Given the description of an element on the screen output the (x, y) to click on. 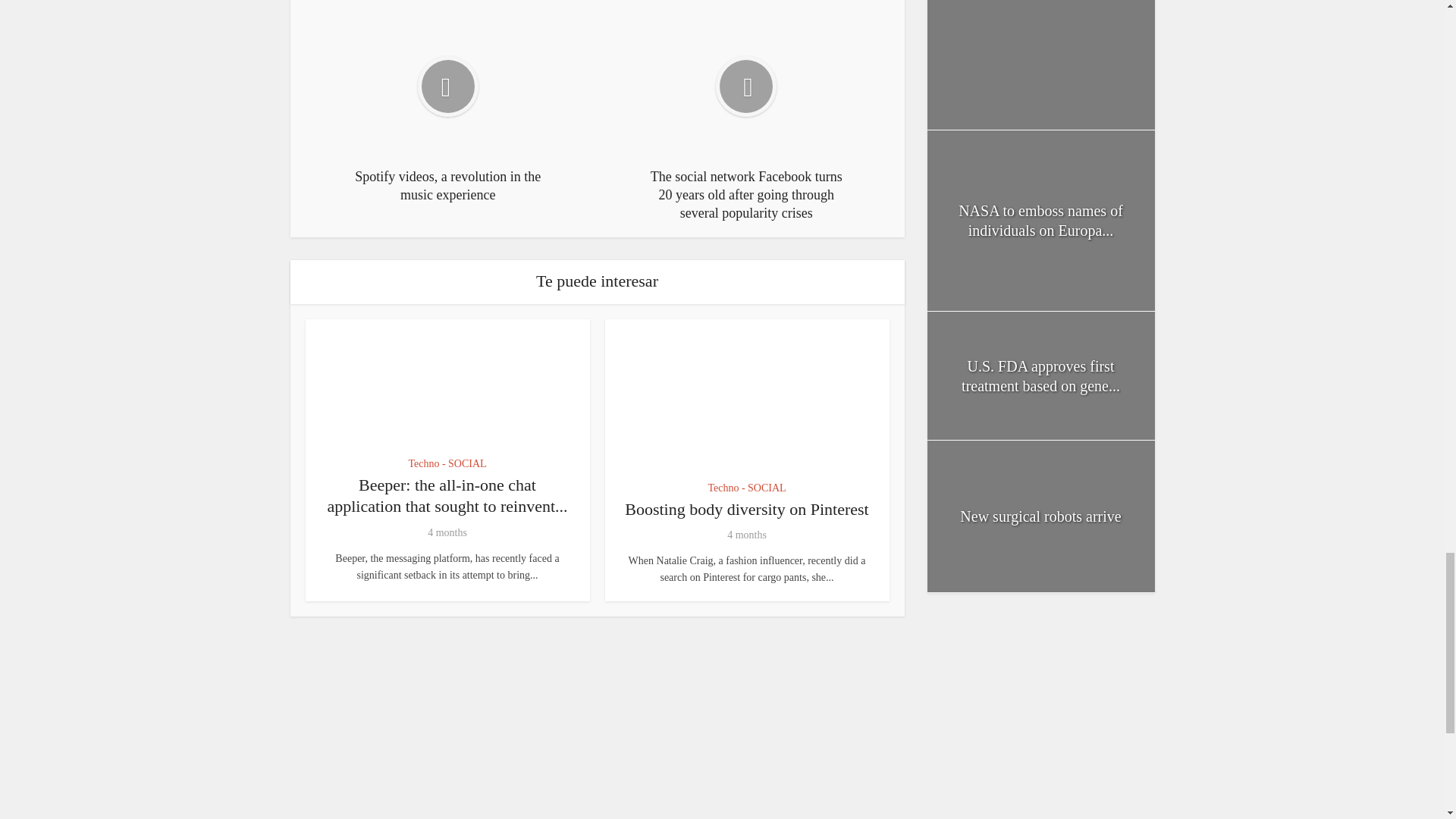
Techno - SOCIAL (746, 487)
Techno - SOCIAL (446, 464)
Spotify videos, a revolution in the music experience (447, 107)
Boosting body diversity on Pinterest (745, 508)
